Given the description of an element on the screen output the (x, y) to click on. 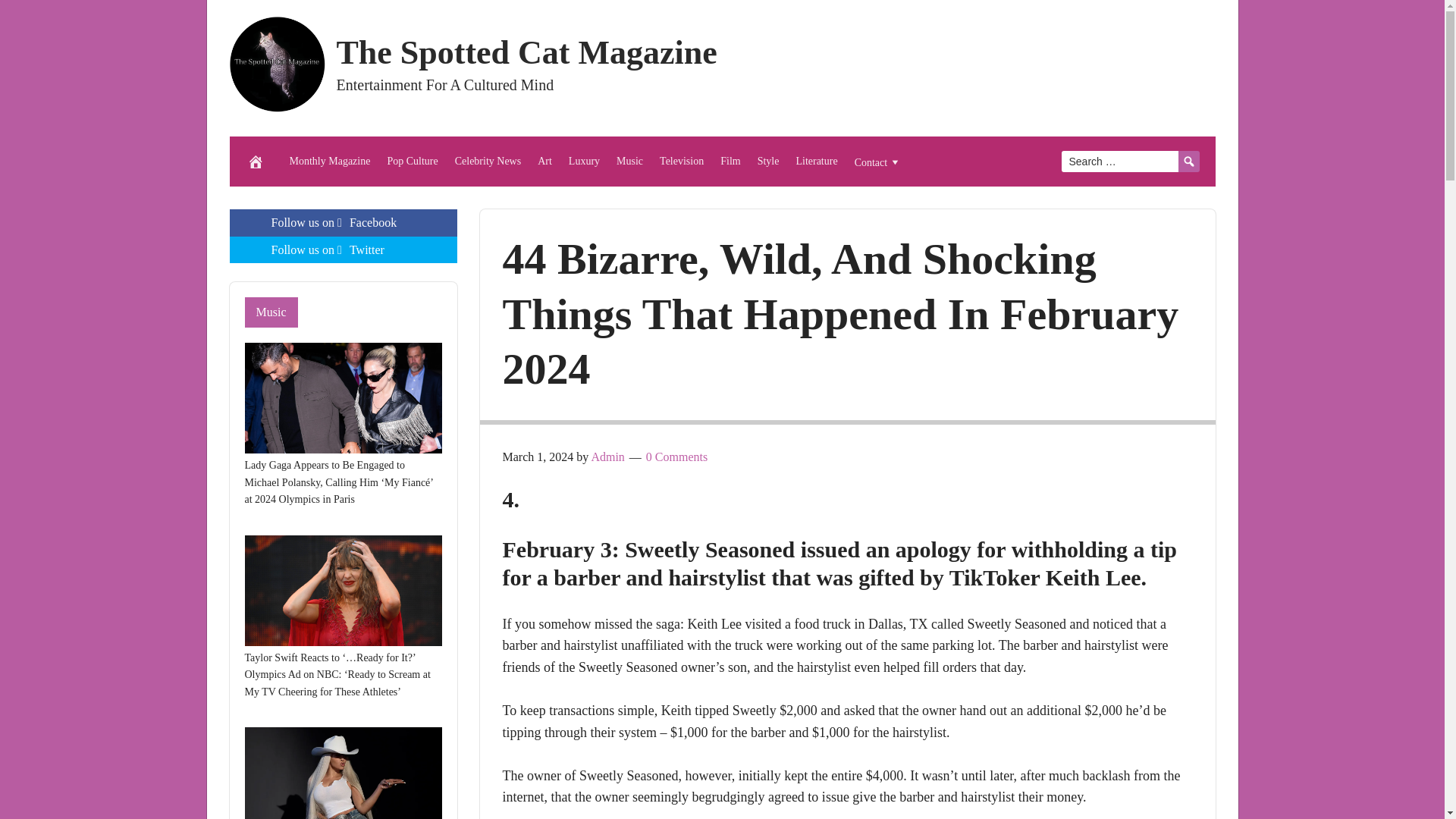
Literature (816, 161)
Television (680, 161)
Pop Culture (411, 161)
Style (768, 161)
The Spotted Cat Magazine (526, 52)
Monthly Magazine (329, 161)
Art (544, 161)
Music (629, 161)
Celebrity News (487, 161)
Contact (878, 161)
Film (729, 161)
Luxury (584, 161)
